Given the description of an element on the screen output the (x, y) to click on. 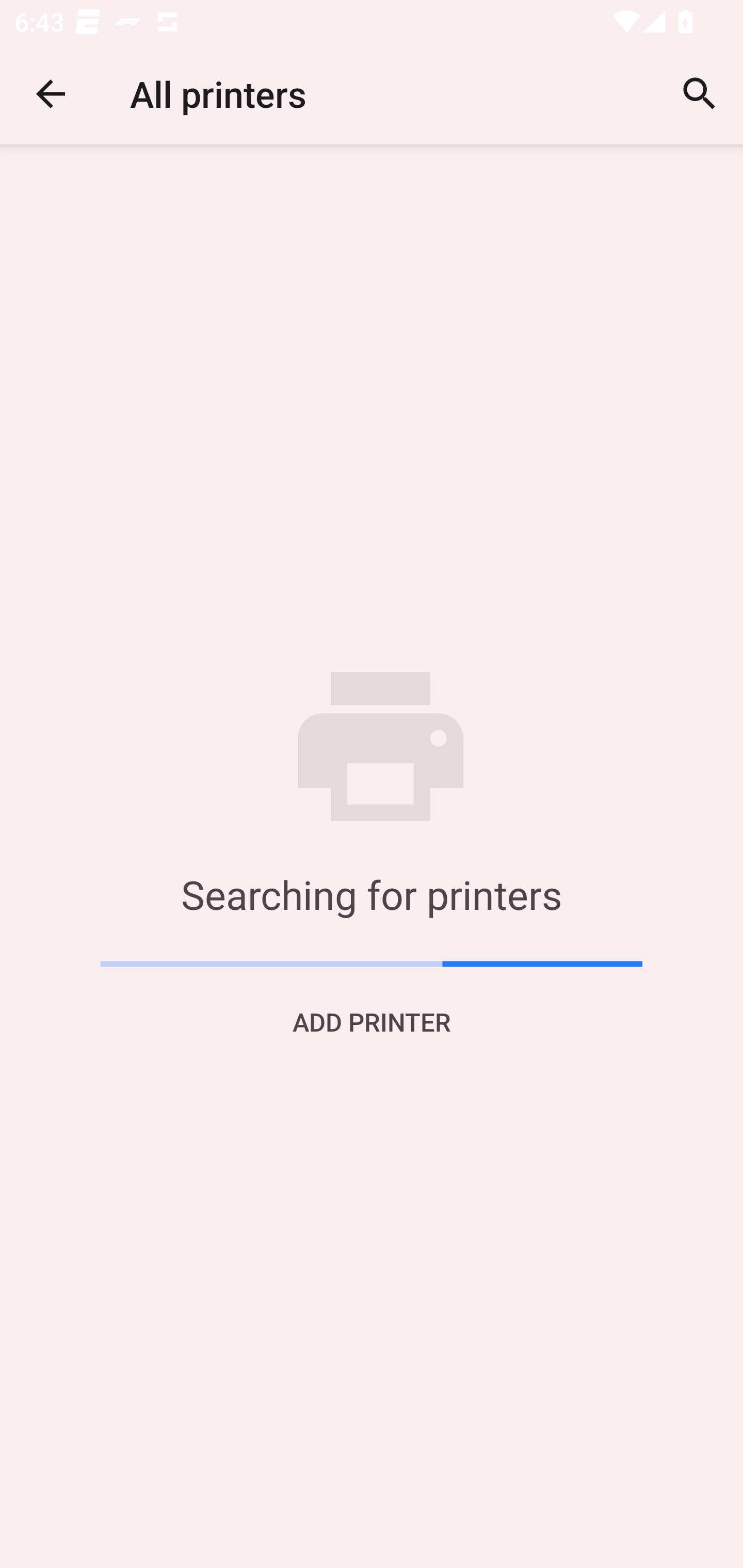
Navigate up (50, 93)
Search (699, 93)
ADD PRINTER (371, 1021)
